Given the description of an element on the screen output the (x, y) to click on. 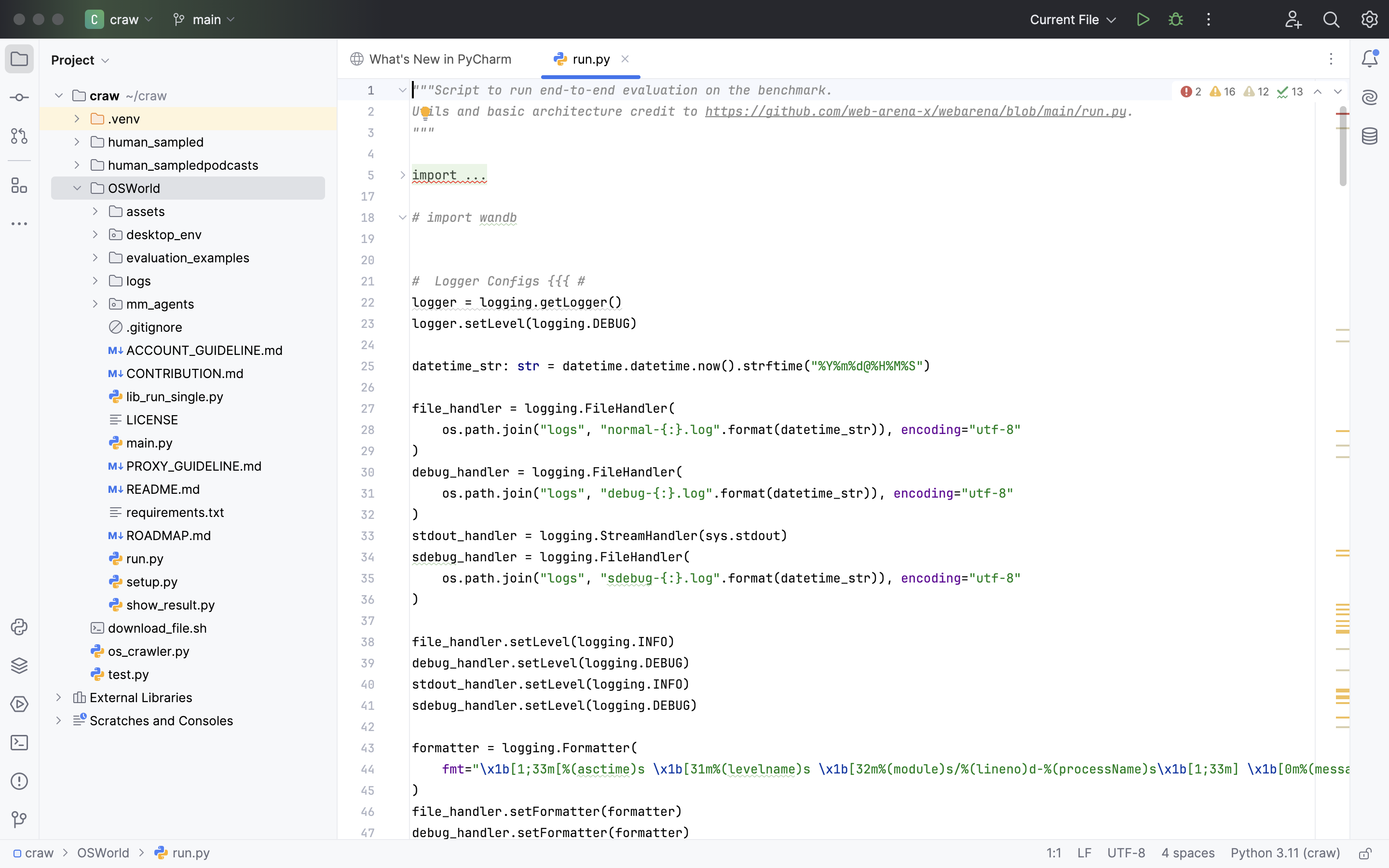
Python 3.11 (craw) Element type: AXStaticText (1285, 854)
PROXY_GUIDELINE.md Element type: AXStaticText (185, 465)
.gitignore Element type: AXStaticText (146, 326)
0 13 Element type: AXGroup (19, 16)
lib_run_single.py Element type: AXStaticText (166, 395)
